Given the description of an element on the screen output the (x, y) to click on. 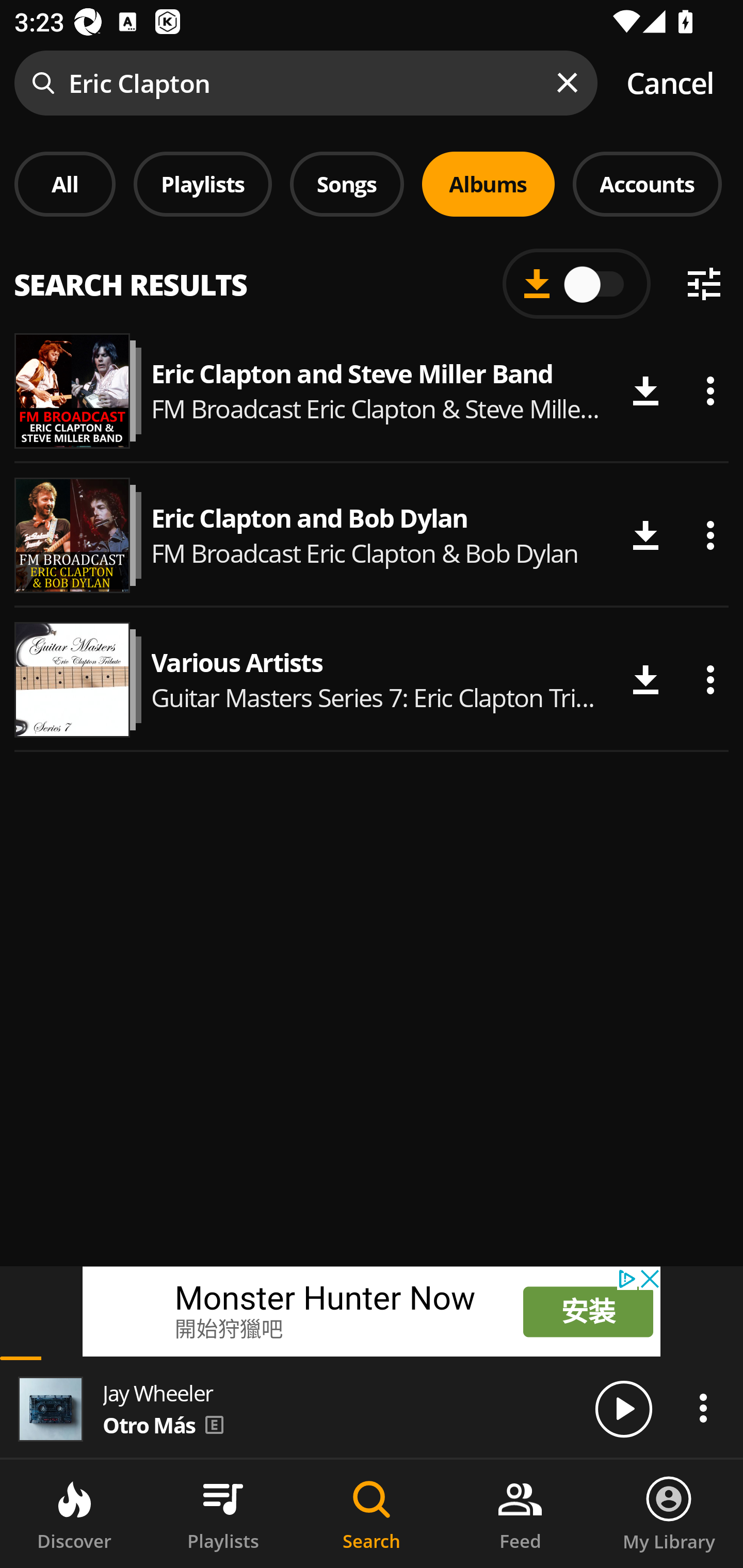
Eric Clapton Cancel (371, 82)
Cancel (670, 82)
All (64, 184)
Playlists (202, 184)
Songs (346, 184)
Albums (488, 184)
Accounts (647, 184)
All Country Afrosounds Pop Caribbean (371, 275)
Download (644, 391)
Actions (710, 391)
Download (644, 535)
Actions (710, 535)
Download (644, 679)
Actions (710, 679)
Monster Hunter Now 開始狩獵吧 安装 (371, 1311)
Monster Hunter Now 開始狩獵吧 (344, 1311)
Monster Hunter Now (344, 1299)
安装 (588, 1311)
開始狩獵吧 (344, 1329)
Actions (703, 1407)
Play/Pause (623, 1408)
Discover (74, 1513)
Playlists (222, 1513)
Search (371, 1513)
Feed (519, 1513)
My Library (668, 1513)
